Given the description of an element on the screen output the (x, y) to click on. 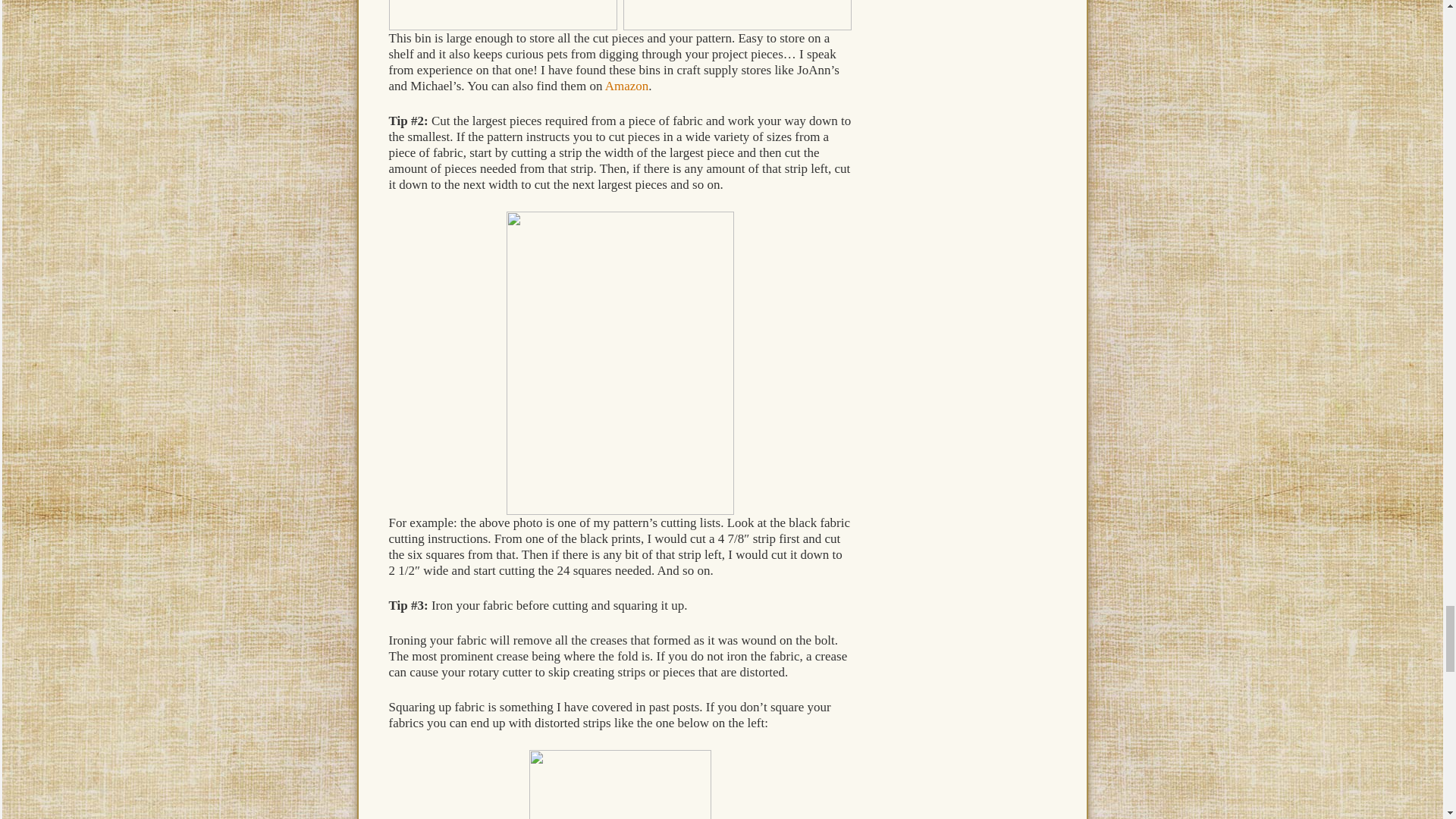
Amazon (627, 85)
